Given the description of an element on the screen output the (x, y) to click on. 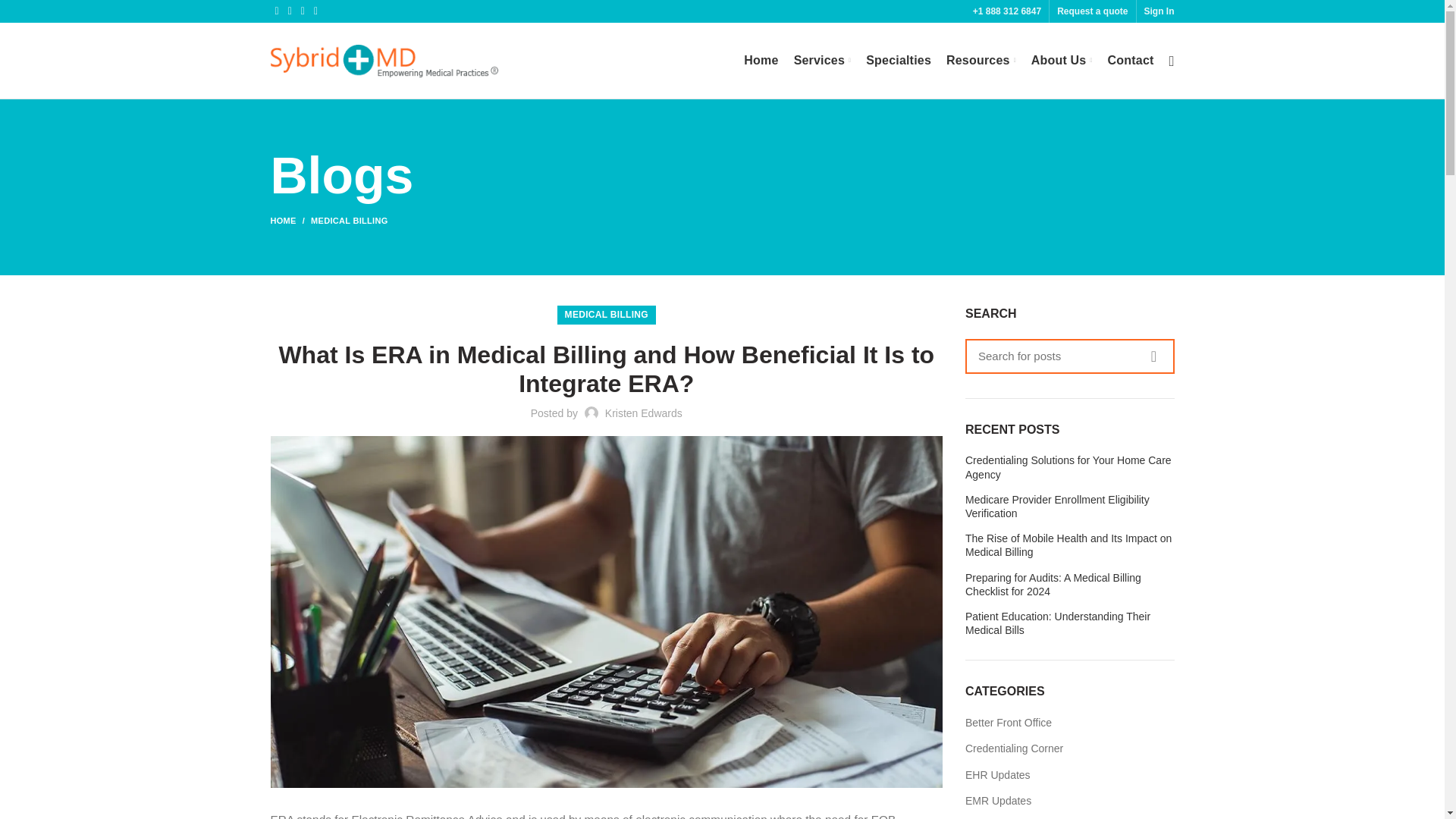
About Us (1061, 60)
Request a quote (1091, 10)
Contact (1130, 60)
Services (822, 60)
Sign In (1157, 10)
Home (761, 60)
Resources (981, 60)
Specialties (899, 60)
